Given the description of an element on the screen output the (x, y) to click on. 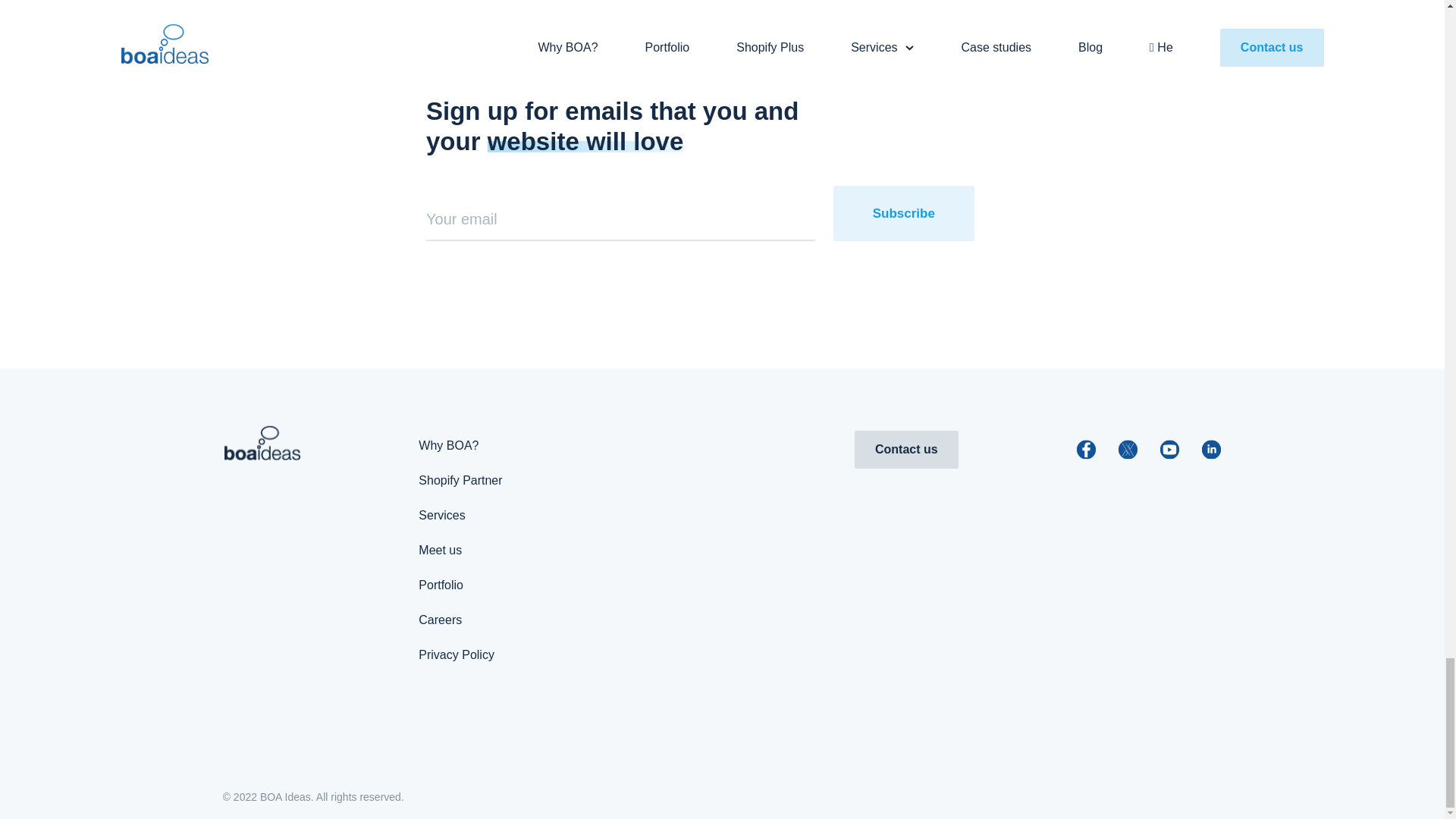
Privacy Policy (457, 654)
Why BOA? (449, 445)
Services (441, 514)
Shopify Partner (460, 480)
Contact us (906, 449)
Meet us (440, 549)
Subscribe (903, 212)
Careers (440, 619)
Portfolio (441, 584)
